Given the description of an element on the screen output the (x, y) to click on. 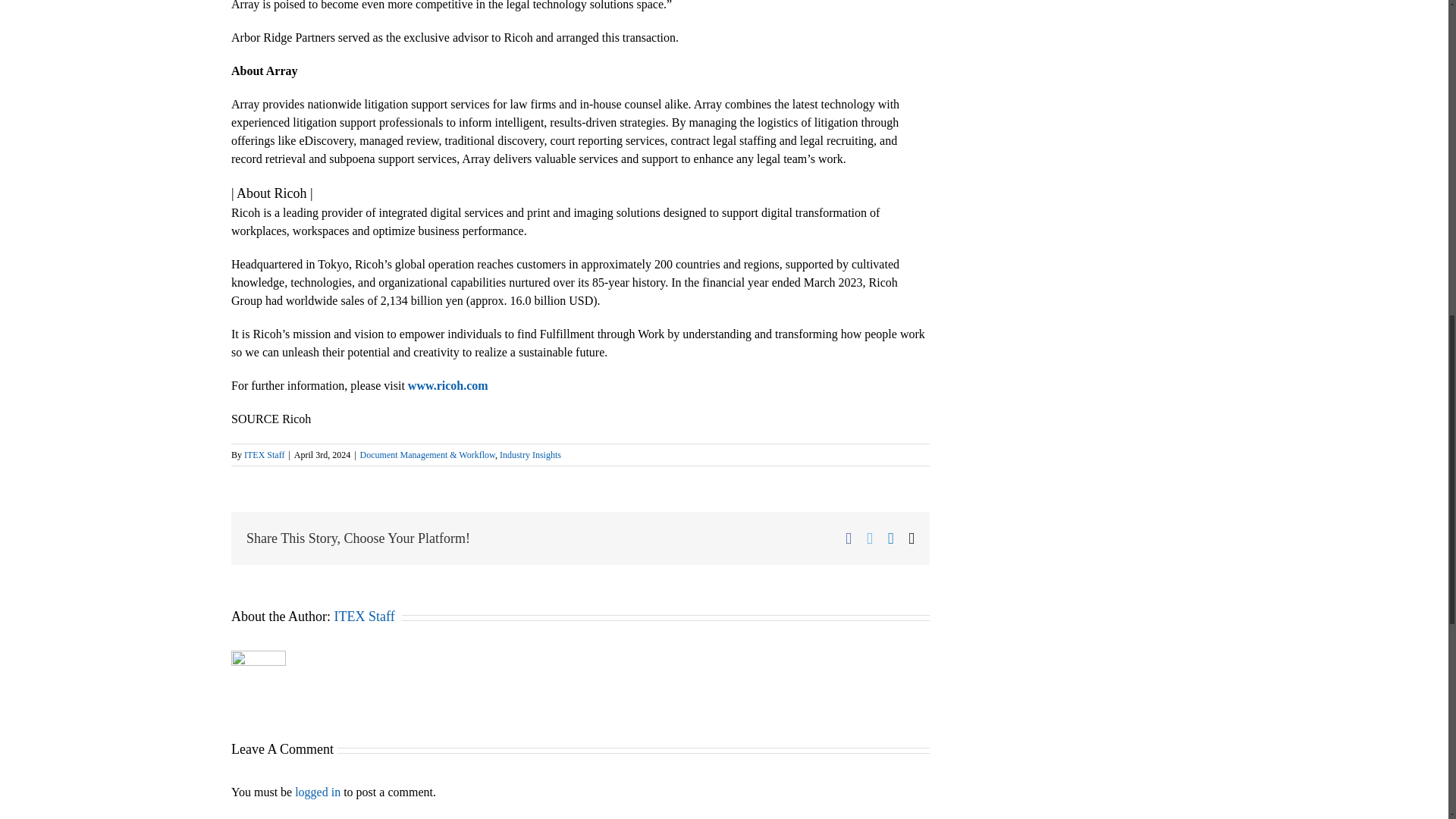
Posts by ITEX Staff (363, 616)
Posts by ITEX Staff (263, 454)
Industry Insights (529, 454)
www.ricoh.com (447, 385)
ITEX Staff (363, 616)
ITEX Staff (263, 454)
